Given the description of an element on the screen output the (x, y) to click on. 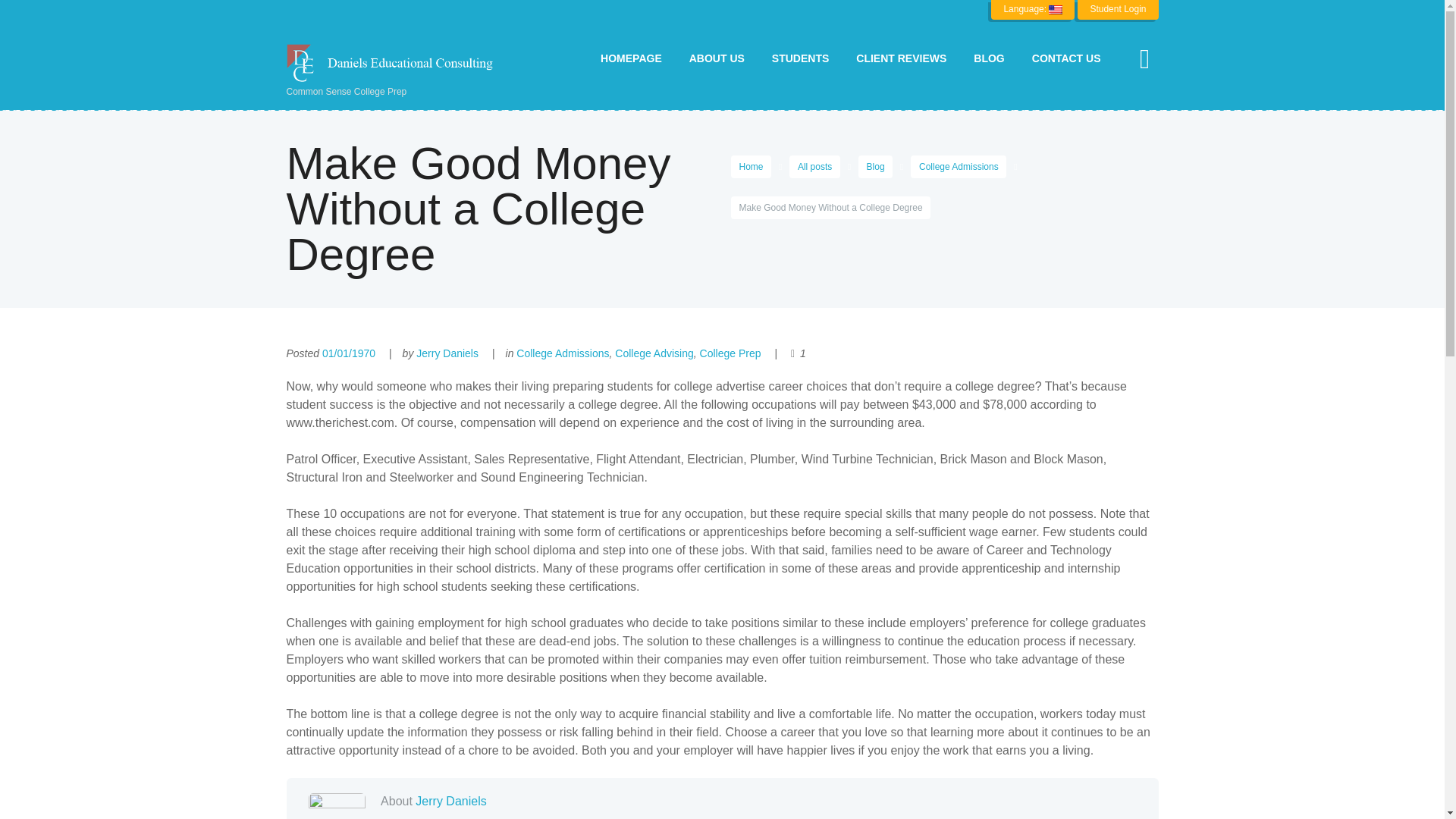
Student Login (1117, 9)
Blog (875, 166)
BLOG (988, 58)
HOMEPAGE (631, 58)
College Prep (730, 353)
CONTACT US (1066, 58)
Common Sense College Prep (395, 71)
All posts (814, 166)
Home (750, 166)
STUDENTS (800, 58)
ABOUT US (717, 58)
College Advising (654, 353)
College Admissions (958, 166)
Language:  (1032, 9)
Jerry Daniels (447, 353)
